Given the description of an element on the screen output the (x, y) to click on. 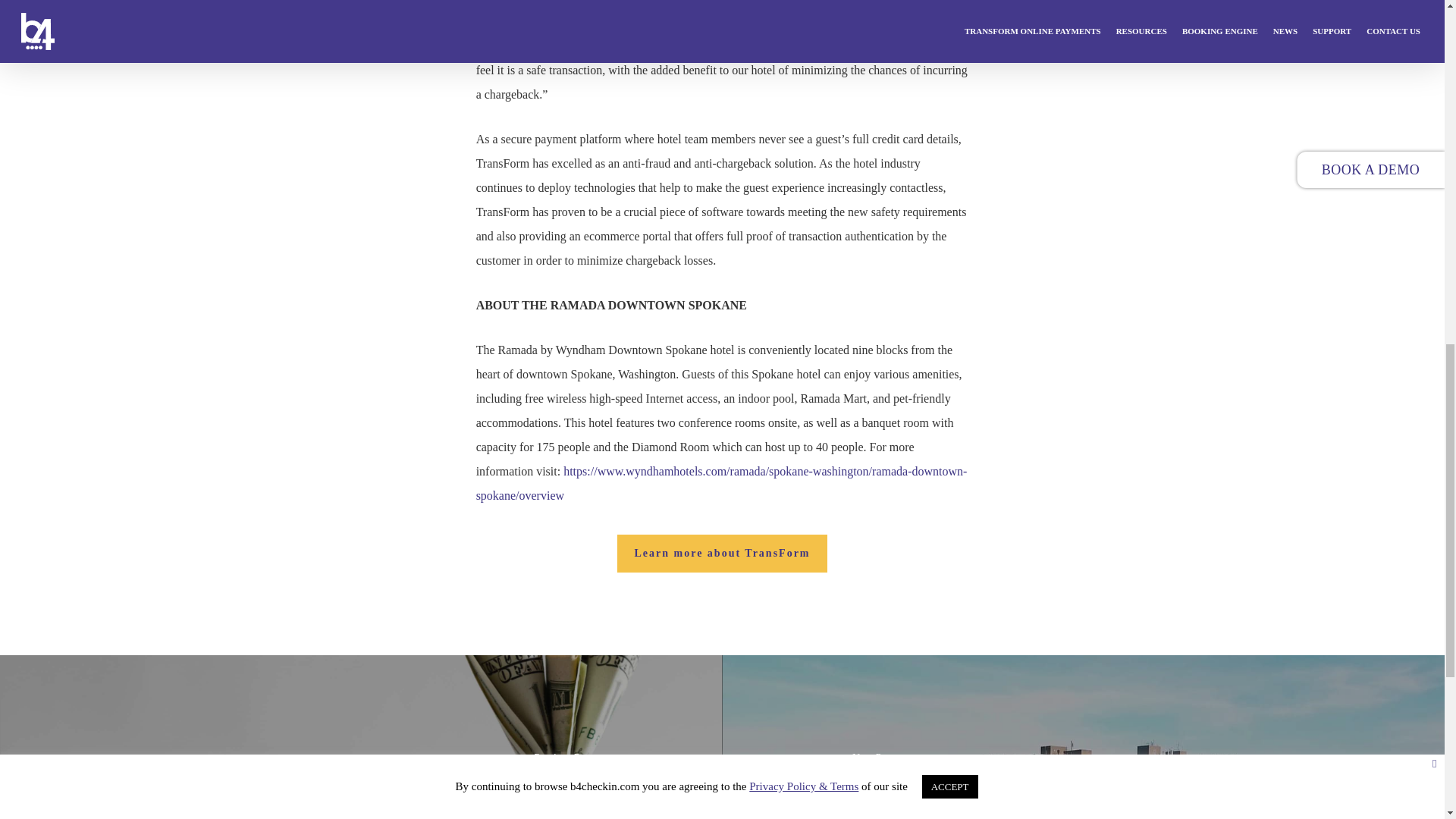
Learn more about TransForm (722, 553)
